Given the description of an element on the screen output the (x, y) to click on. 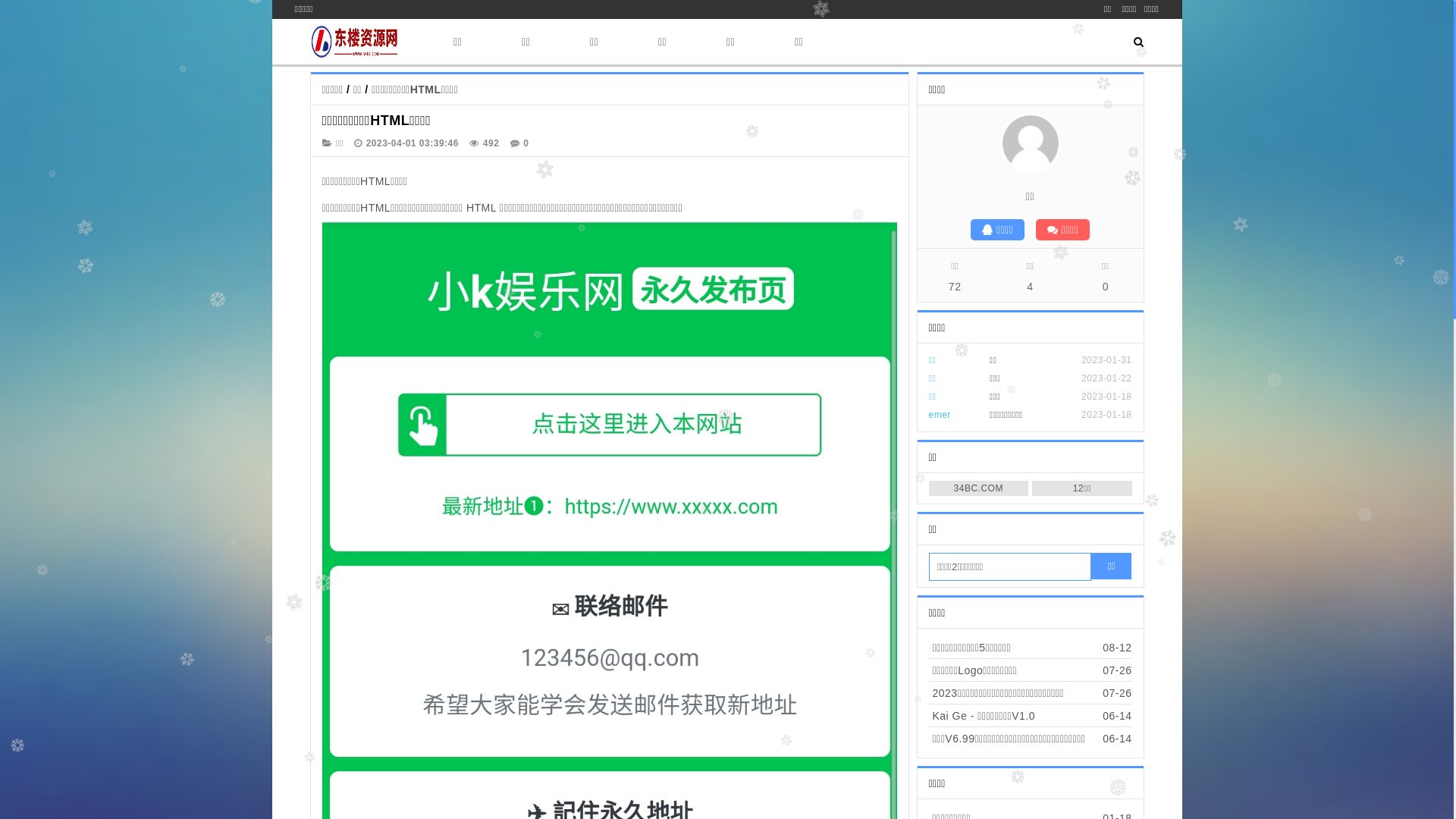
34BC.COM Element type: text (978, 487)
